Given the description of an element on the screen output the (x, y) to click on. 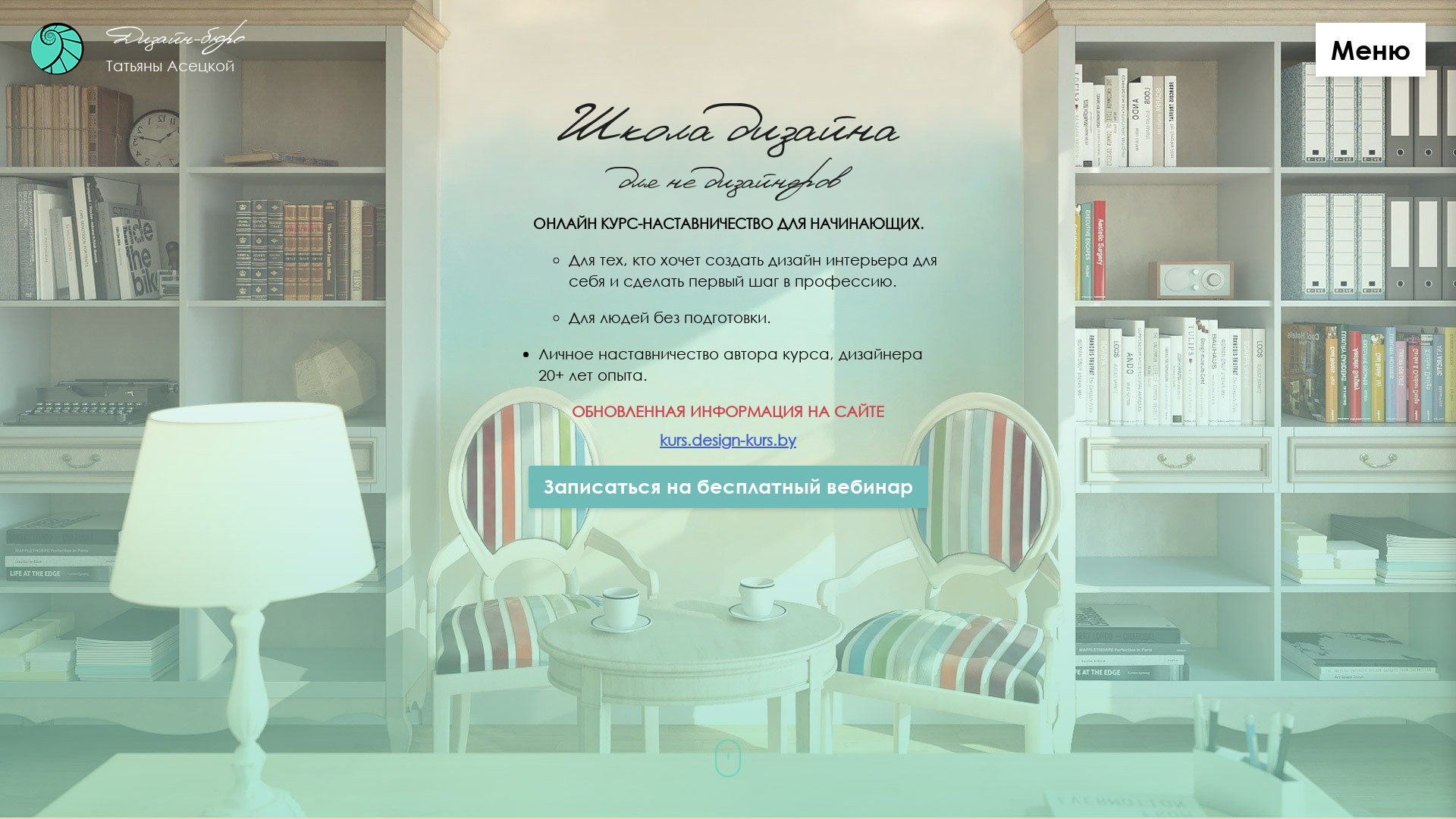
kurs.design-kurs.by Element type: text (727, 439)
